Given the description of an element on the screen output the (x, y) to click on. 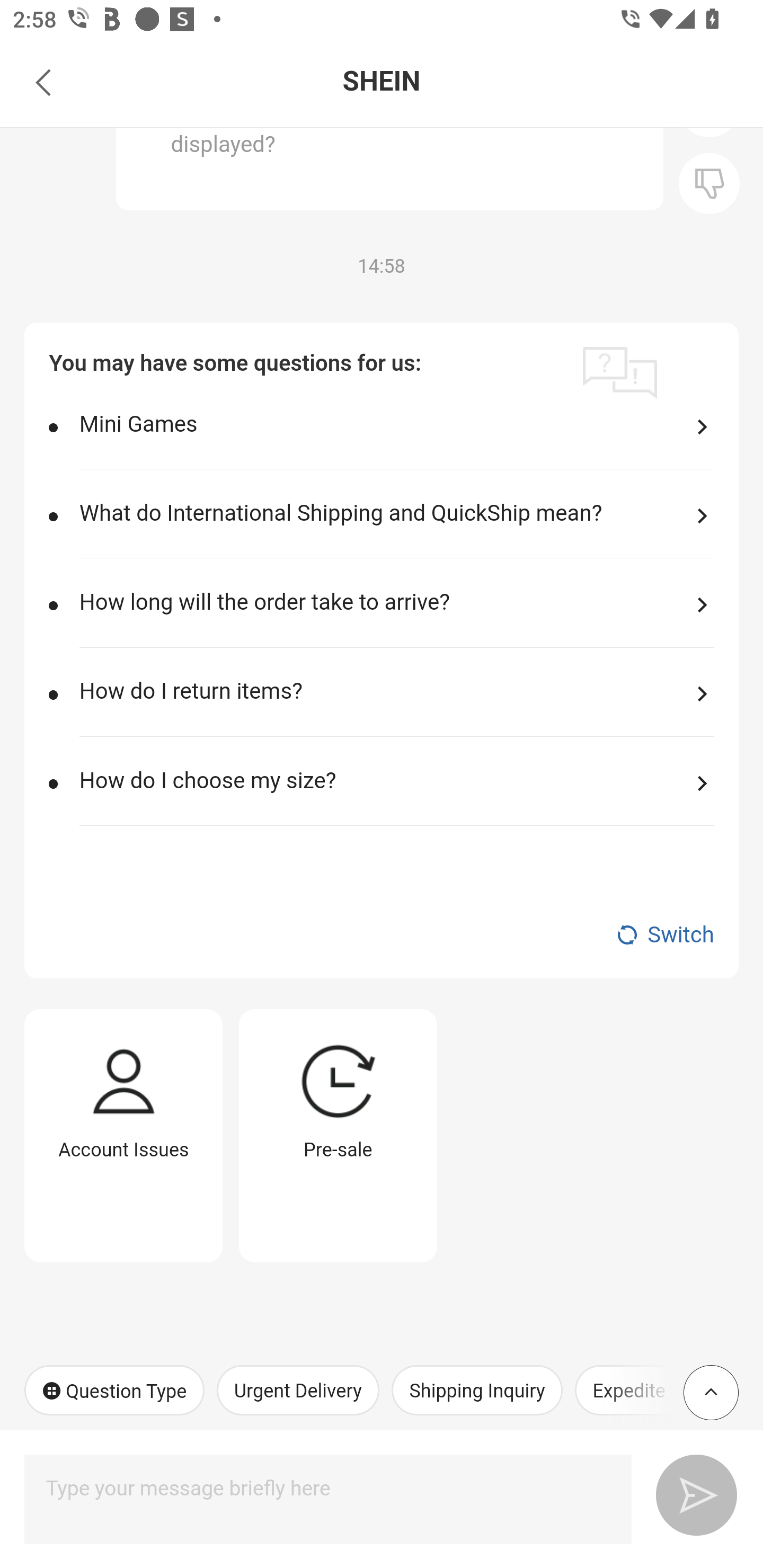
Back (43, 81)
 (708, 183)
Mini Games  (396, 438)
How long will the order take to arrive?  (396, 616)
How do I return items?  (396, 705)
How do I choose my size?  (396, 794)
 Switch (381, 934)
Enter (688, 1492)
